Given the description of an element on the screen output the (x, y) to click on. 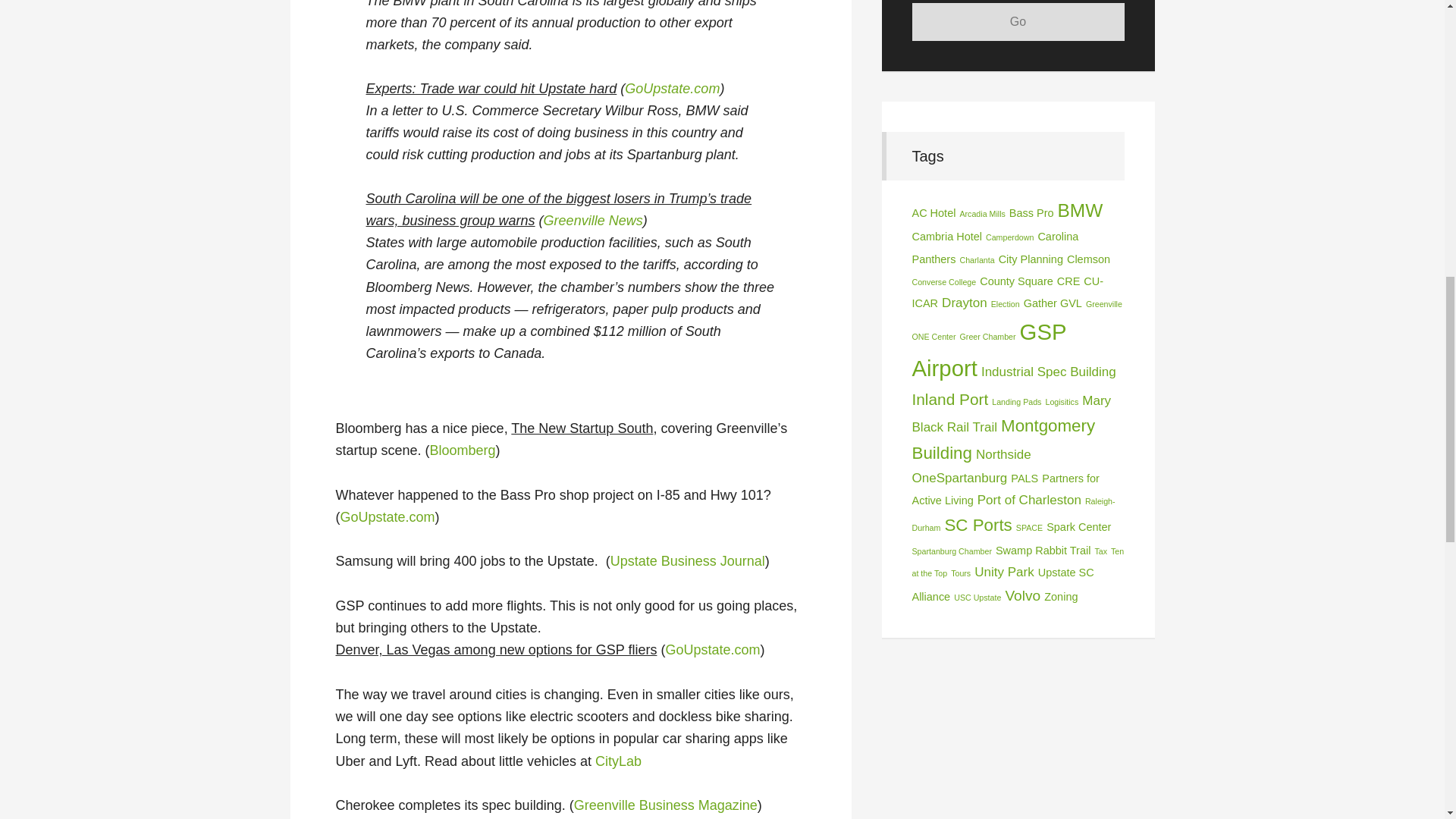
Upstate Business Journal (687, 560)
Go (1017, 21)
CityLab (618, 761)
AC Hotel (933, 213)
GoUpstate.com (386, 516)
Arcadia Mills (981, 213)
BMW (1080, 209)
Greenville Business Magazine (665, 805)
Cambria Hotel (946, 236)
Greenville News (593, 220)
